Given the description of an element on the screen output the (x, y) to click on. 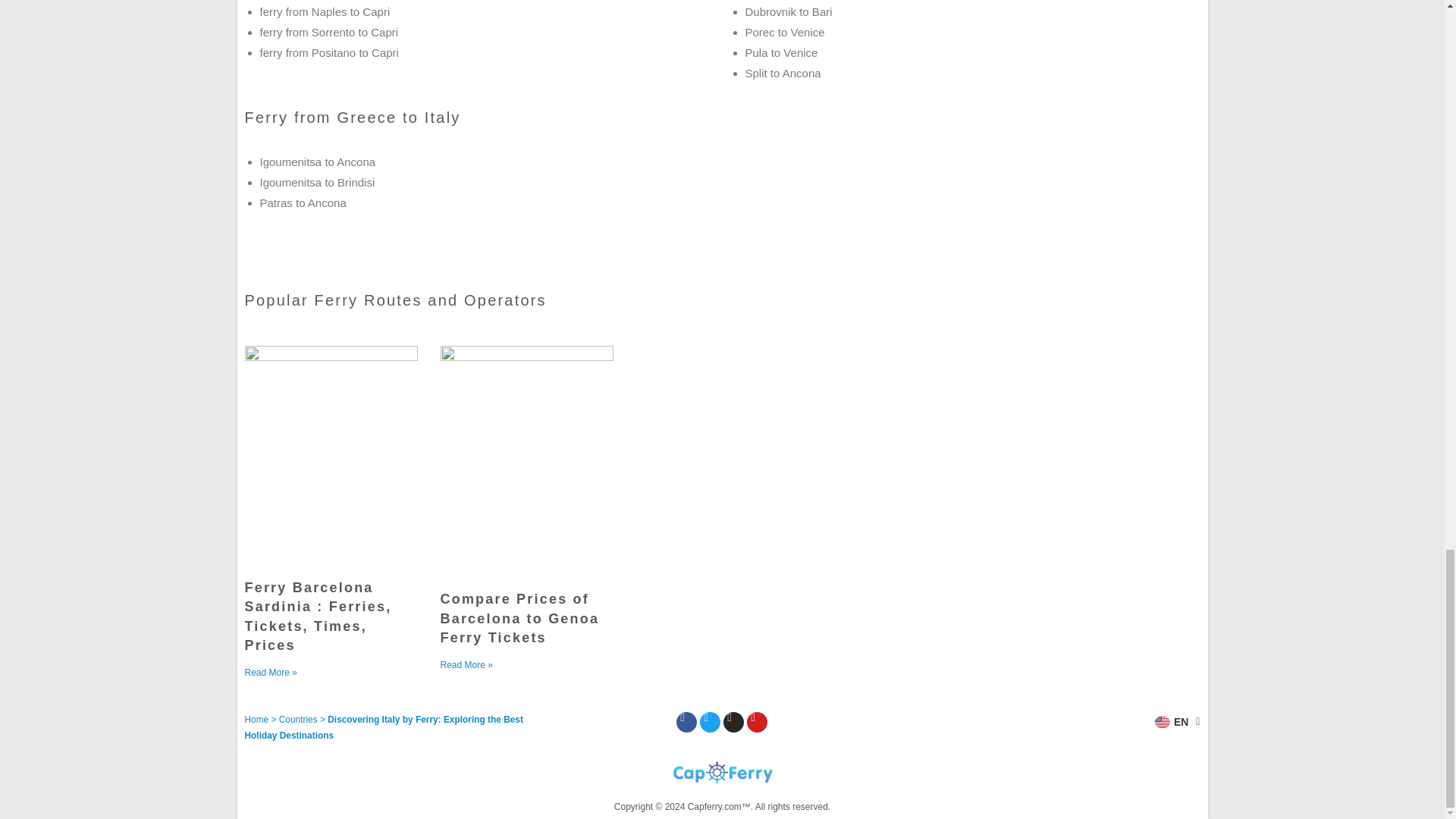
Ferry Barcelona Sardinia : Ferries, Tickets, Times, Prices (317, 615)
EN (1176, 721)
Home (255, 719)
Compare Prices of Barcelona to Genoa Ferry Tickets (518, 617)
Countries (298, 719)
